Given the description of an element on the screen output the (x, y) to click on. 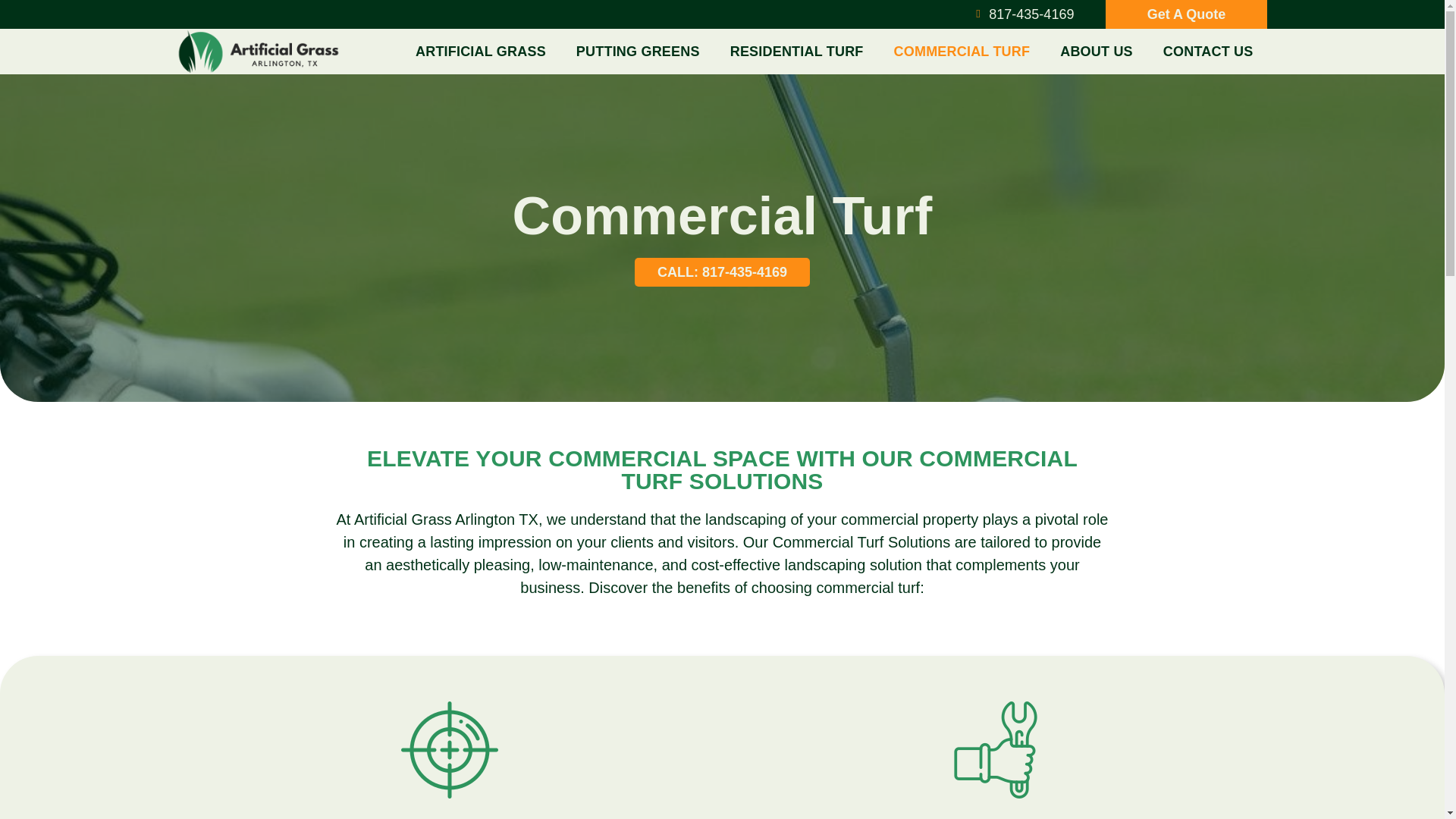
ARTIFICIAL GRASS (480, 51)
CALL: 817-435-4169 (721, 271)
RESIDENTIAL TURF (796, 51)
817-435-4169 (1021, 14)
CONTACT US (1208, 51)
ABOUT US (1096, 51)
Get A Quote (1186, 14)
COMMERCIAL TURF (962, 51)
PUTTING GREENS (637, 51)
